Given the description of an element on the screen output the (x, y) to click on. 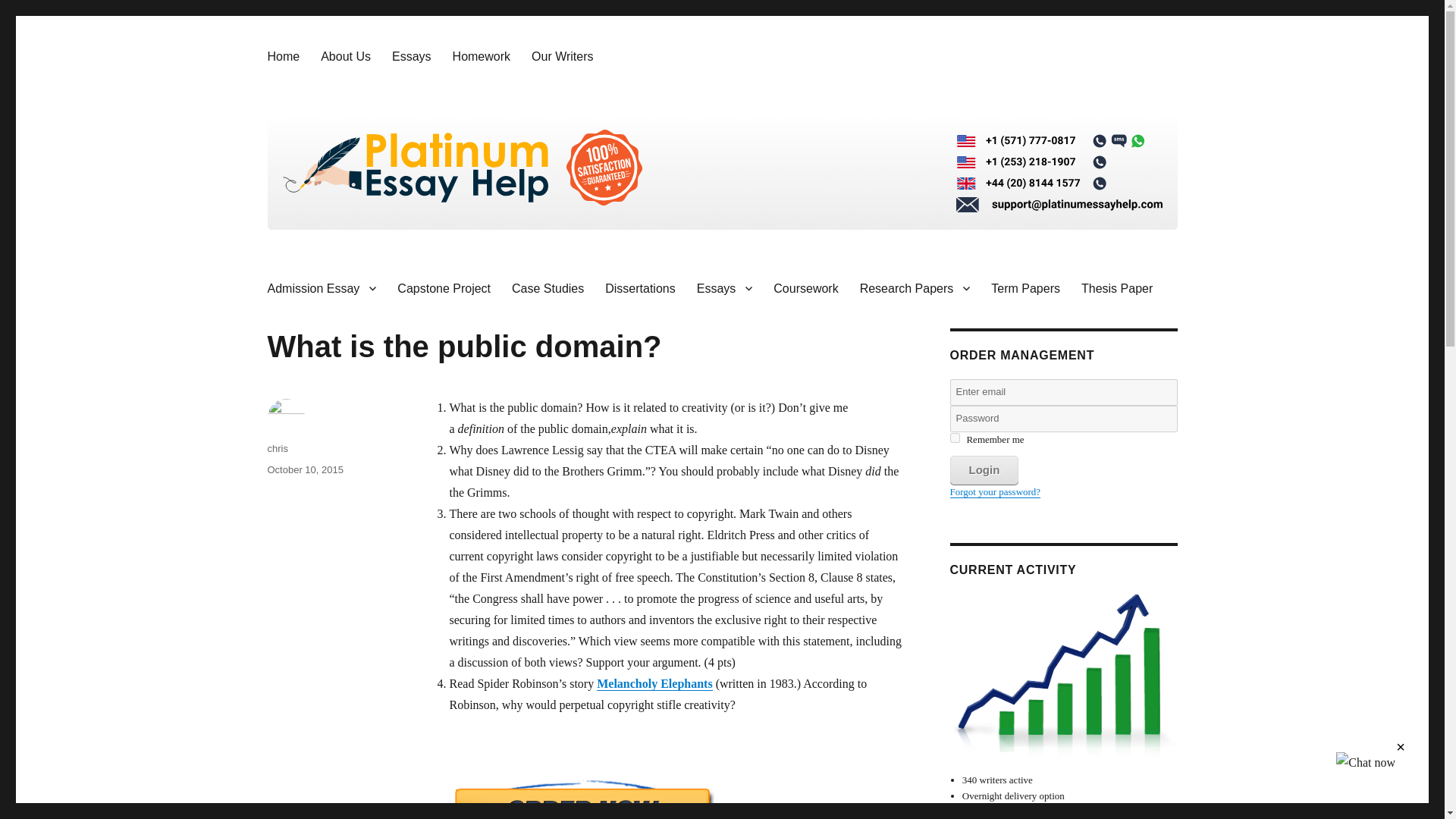
Essays (723, 287)
Research Papers (914, 287)
click to Login (983, 469)
Melancholy Elephants (653, 683)
Recover password (995, 491)
Thesis Paper (1116, 287)
Homework (481, 56)
Dissertations (639, 287)
About Us (345, 56)
Home (283, 56)
on (954, 438)
Click to Order (676, 799)
Essays (411, 56)
Term Papers (1024, 287)
Our Writers (562, 56)
